Given the description of an element on the screen output the (x, y) to click on. 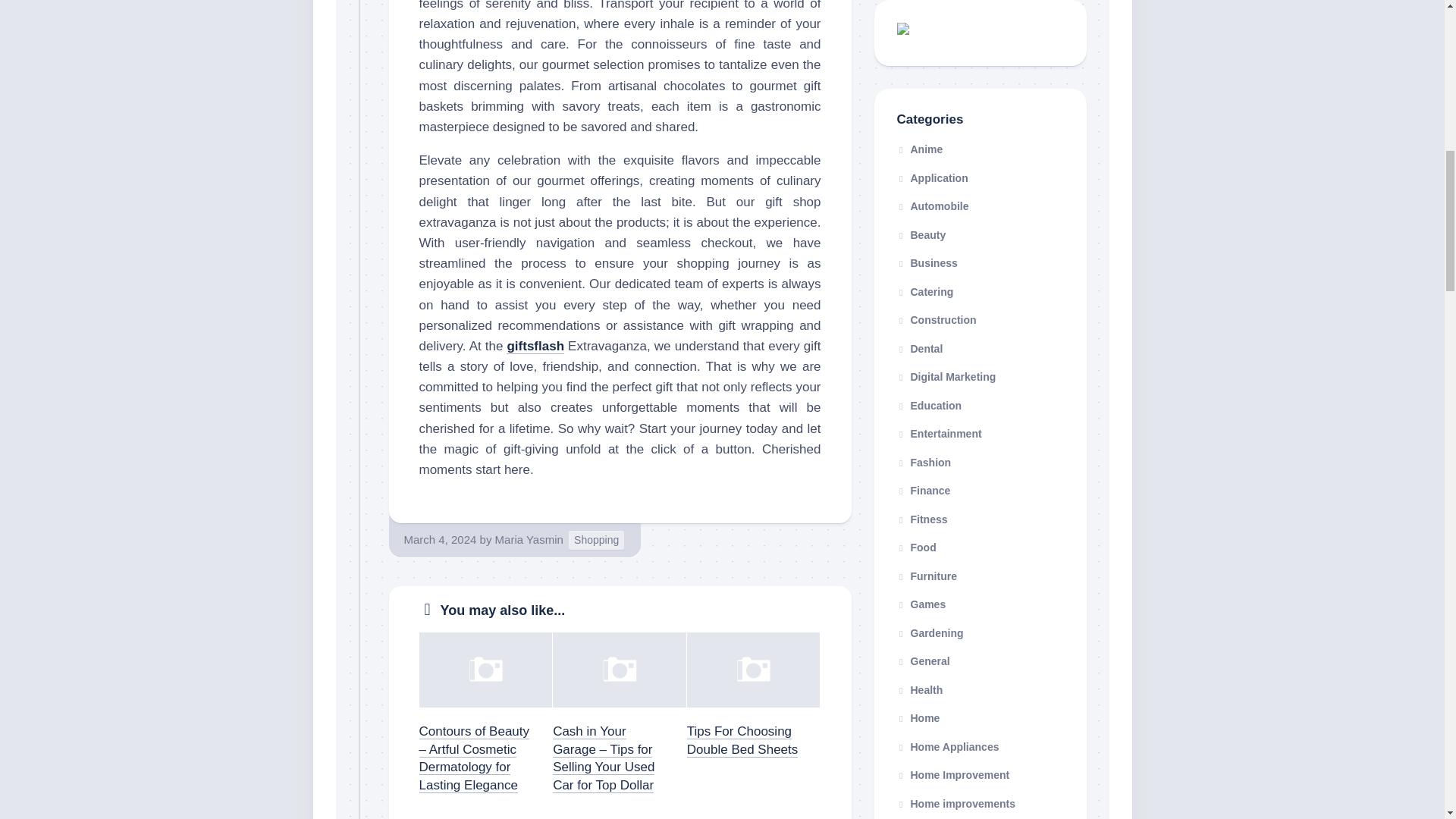
Business (926, 263)
Dental (919, 348)
Maria Yasmin (529, 539)
Application (932, 177)
Posts by Maria Yasmin (529, 539)
Digital Marketing (945, 377)
Catering (924, 291)
Furniture (926, 576)
Anime (919, 149)
Entertainment (938, 433)
Automobile (932, 205)
Shopping (596, 539)
Fashion (923, 462)
Construction (935, 319)
Tips For Choosing Double Bed Sheets (742, 739)
